Given the description of an element on the screen output the (x, y) to click on. 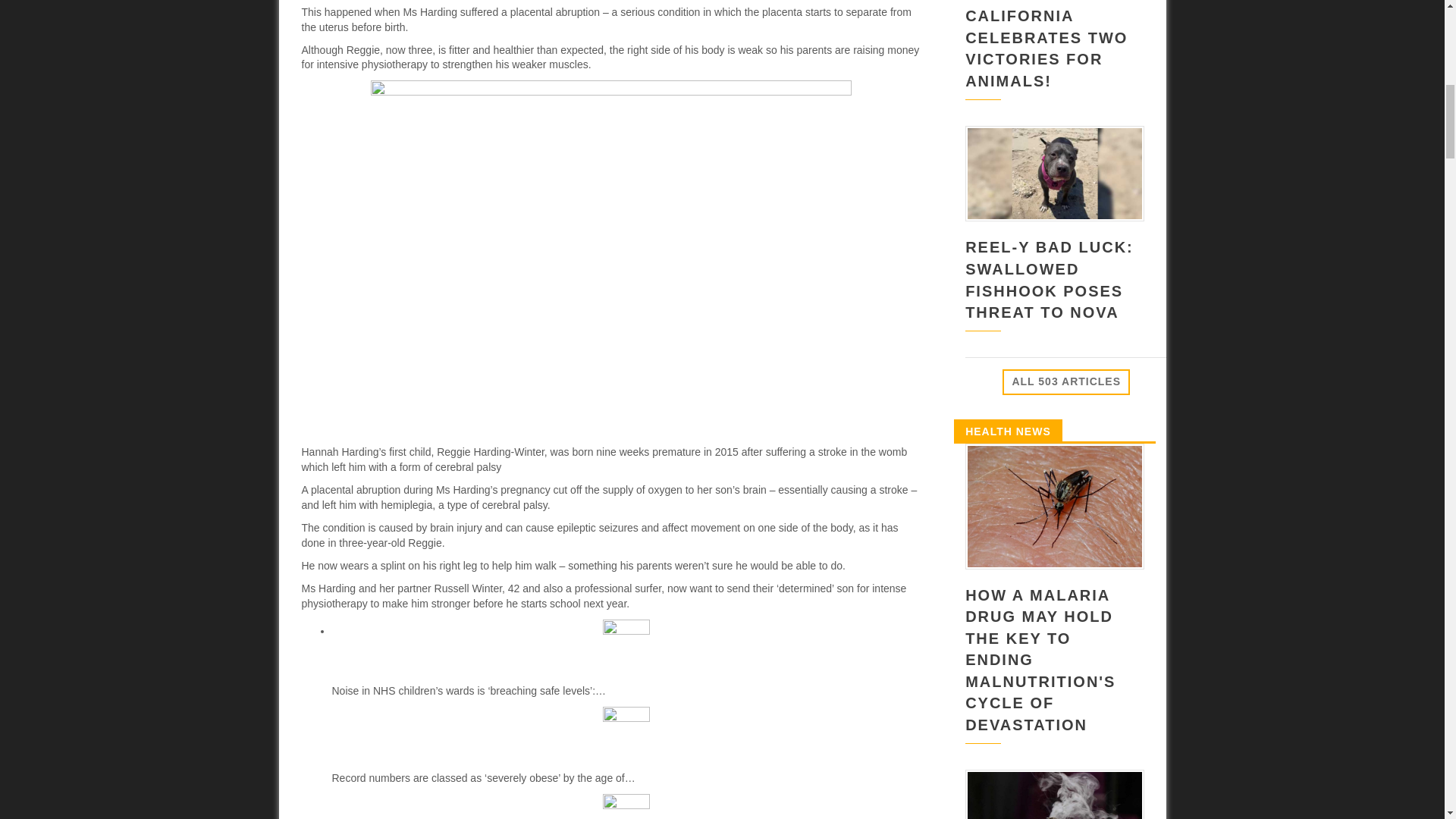
ALL 503 ARTICLES (1066, 381)
REEL-Y BAD LUCK: SWALLOWED FISHHOOK POSES THREAT TO NOVA (1049, 280)
CALIFORNIA CELEBRATES TWO VICTORIES FOR ANIMALS! (1045, 48)
